Given the description of an element on the screen output the (x, y) to click on. 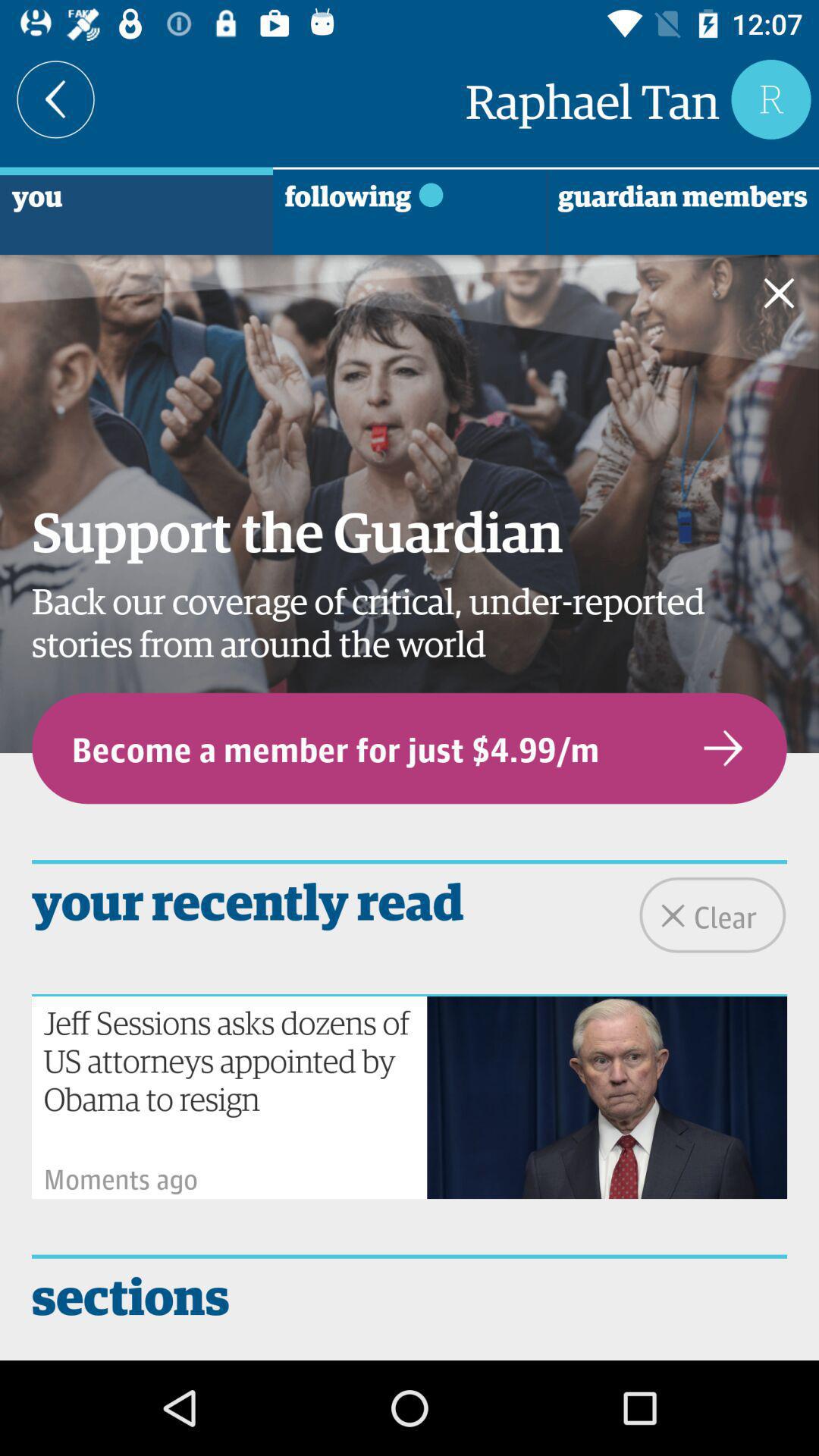
select the item next to the raphael tan item (55, 99)
